Given the description of an element on the screen output the (x, y) to click on. 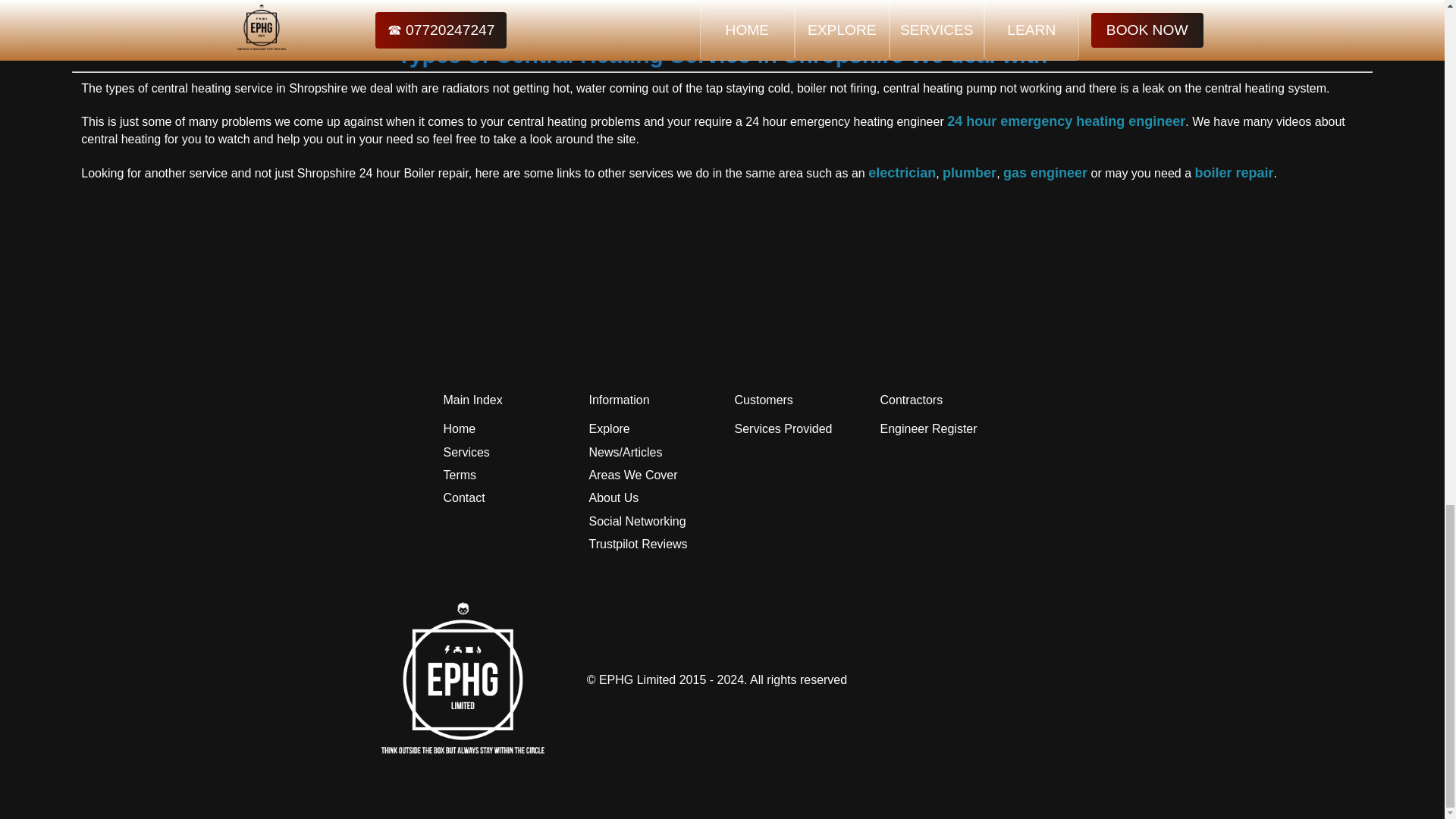
plumber (968, 172)
Electrician (901, 172)
About EPHG (613, 497)
Social Networking (636, 521)
Services Provided (782, 428)
24 hour emergency heating engineer (1066, 120)
Home (459, 428)
Engineer Register (927, 428)
Terms (459, 475)
Social Networking (636, 521)
About Us (613, 497)
Services (465, 452)
electrician (901, 172)
24 hour emergency heating engineer (1066, 120)
boiler repair (1232, 172)
